Given the description of an element on the screen output the (x, y) to click on. 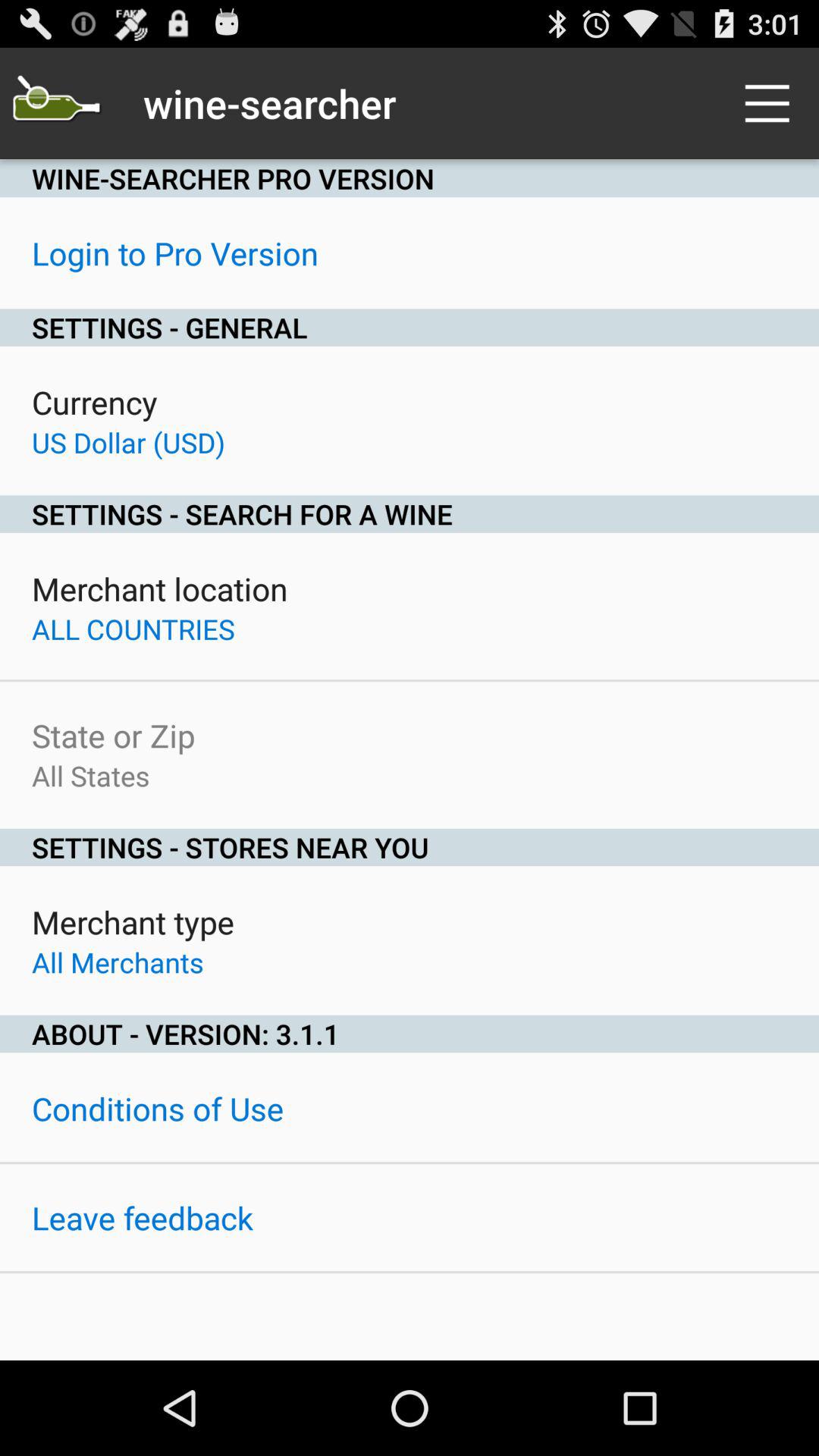
turn off the icon below currency icon (128, 442)
